Given the description of an element on the screen output the (x, y) to click on. 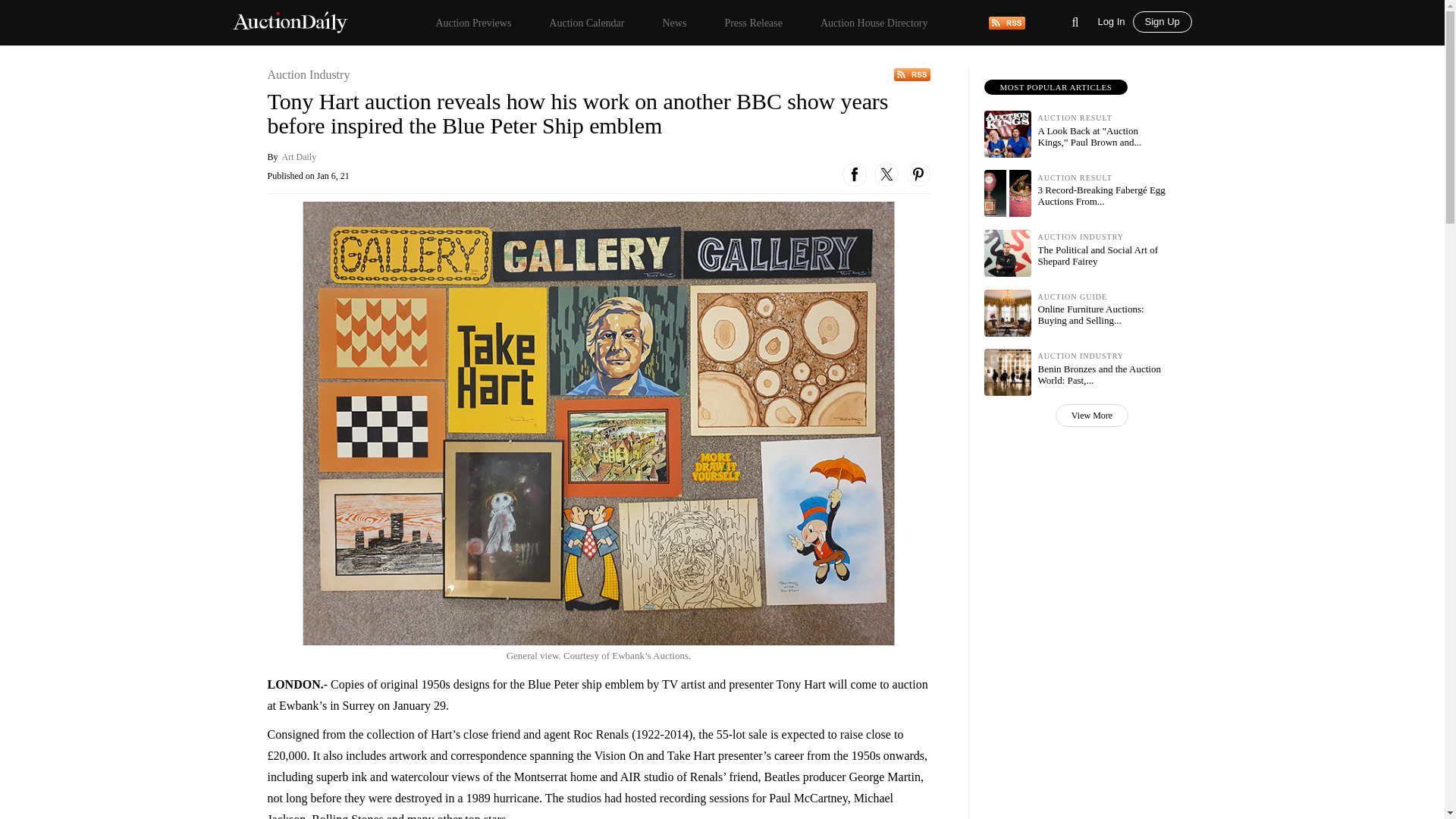
View Our News Feed (1006, 21)
Auction Previews (473, 22)
Auction House Directory (874, 22)
3rd party ad content (1059, 724)
Sign Up (1162, 21)
View Our News Feed (911, 74)
Log In (1114, 20)
3rd party ad content (1059, 532)
News (673, 22)
Press Release (753, 22)
Auction Calendar (586, 22)
